Given the description of an element on the screen output the (x, y) to click on. 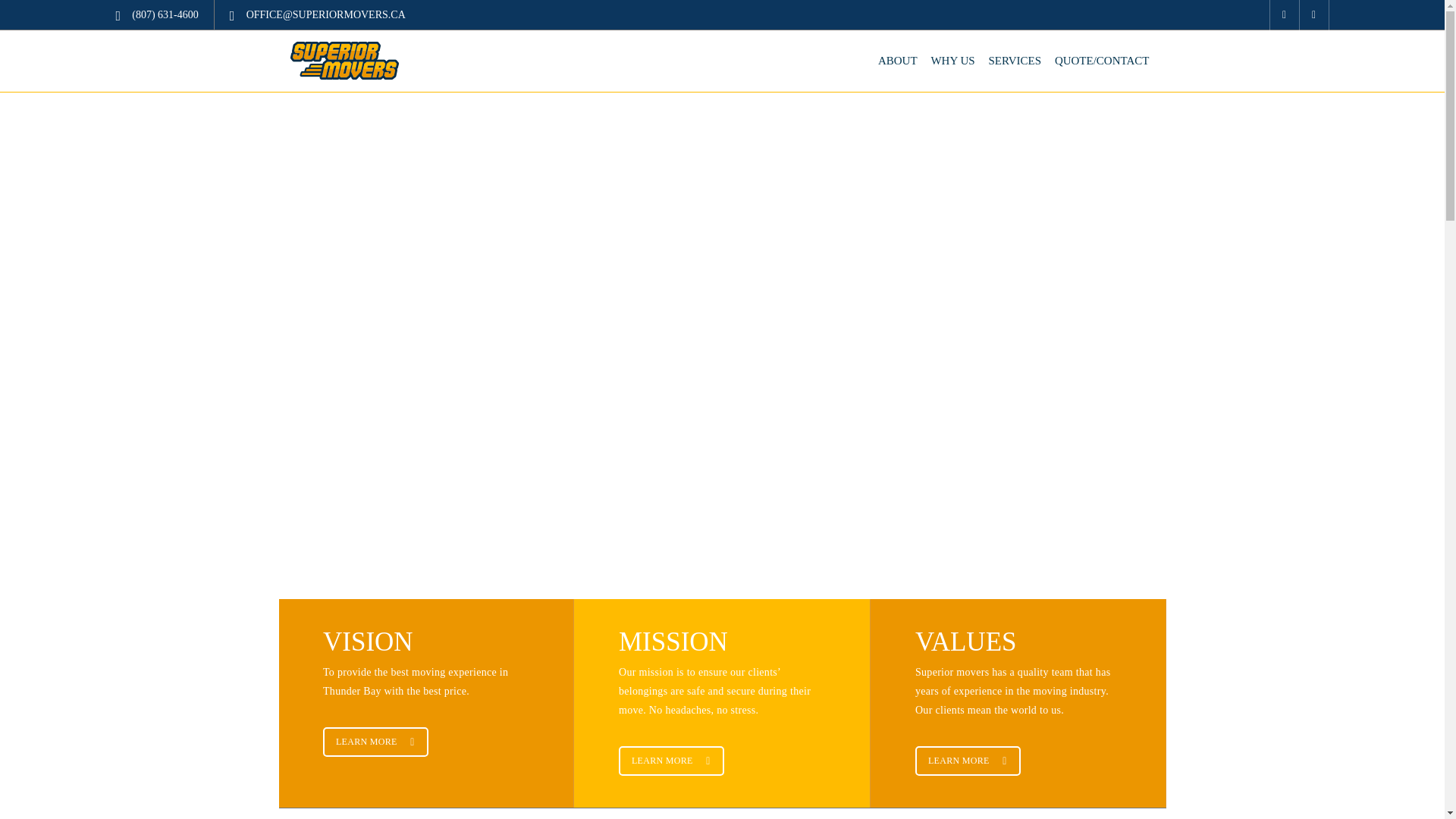
LEARN MORE (375, 741)
LEARN MORE (967, 760)
SERVICES (1014, 60)
WHY US (952, 60)
LEARN MORE (670, 760)
ABOUT (897, 60)
